Given the description of an element on the screen output the (x, y) to click on. 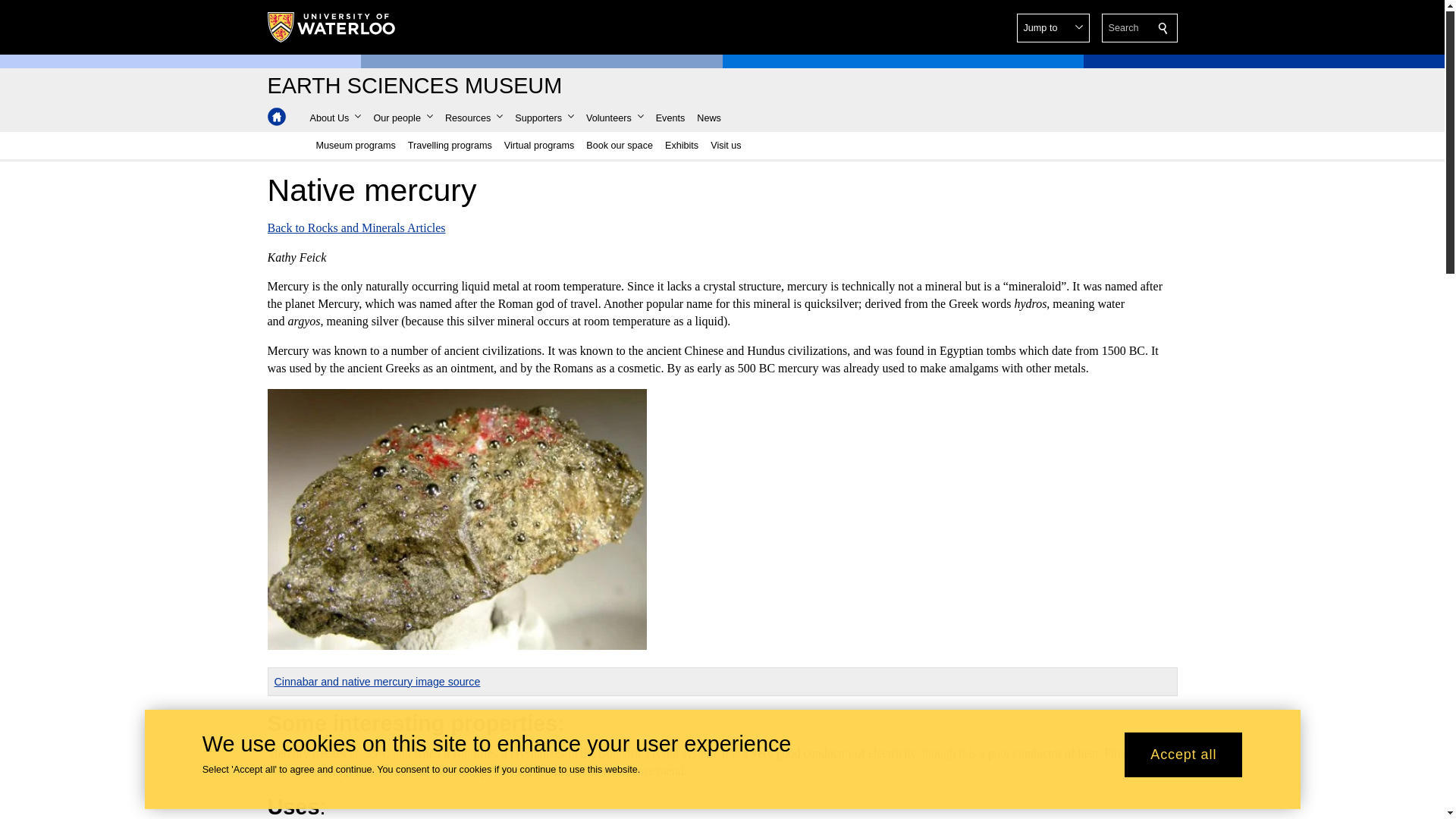
Earth Sciences Museum Home (414, 85)
Jump to (1053, 27)
Earth Sciences Museum Home (275, 116)
EARTH SCIENCES MUSEUM (414, 85)
Supporters (543, 117)
Search (1163, 27)
Our people (402, 117)
About Us (334, 117)
Earth Sciences Museum Home (275, 116)
University of Waterloo Home (331, 27)
